Given the description of an element on the screen output the (x, y) to click on. 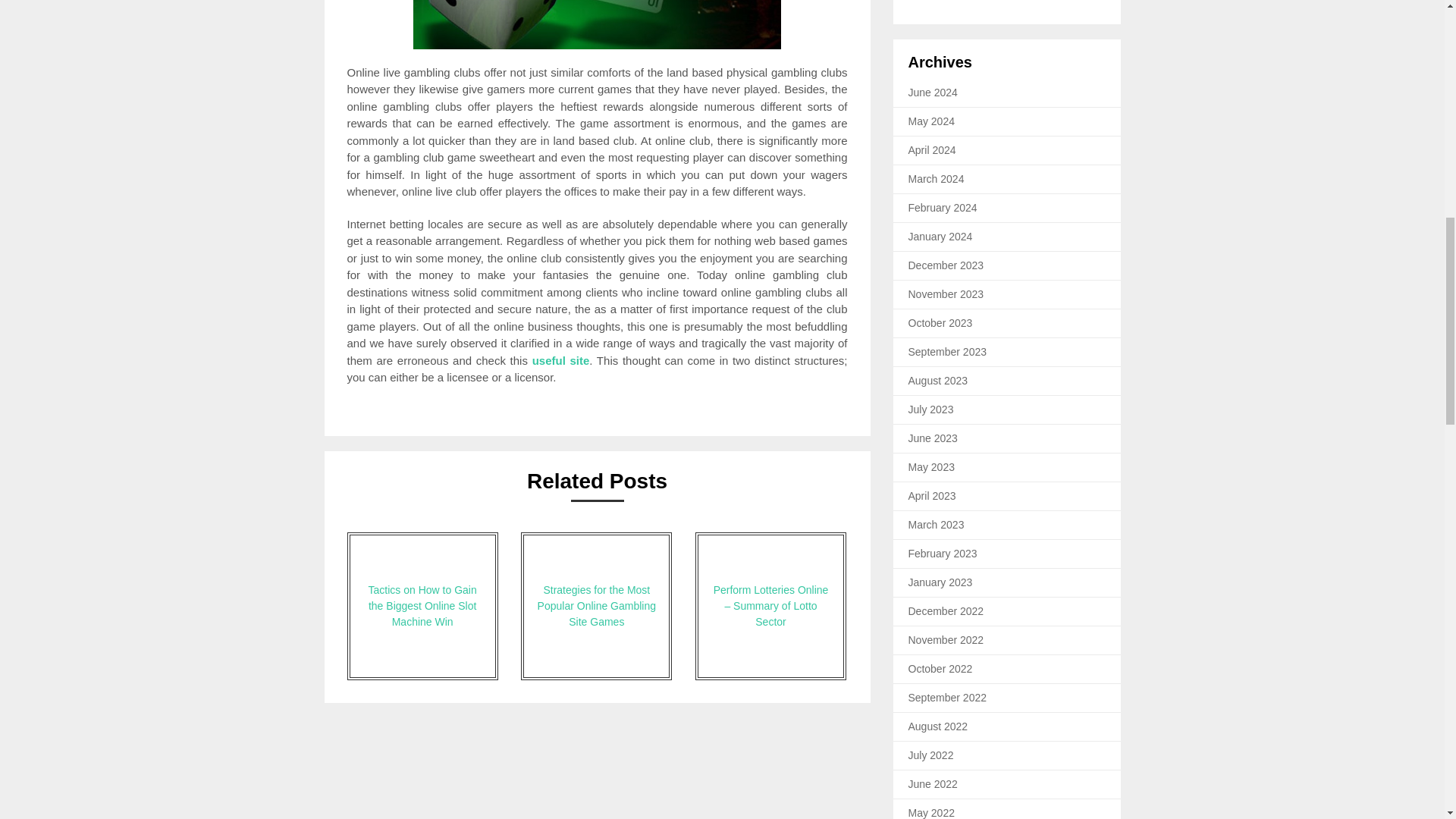
Tactics on How to Gain the Biggest Online Slot Machine Win (422, 606)
December 2022 (946, 611)
July 2023 (930, 409)
Tactics on How to Gain the Biggest Online Slot Machine Win (422, 606)
June 2023 (933, 438)
February 2023 (942, 553)
March 2023 (935, 524)
November 2023 (946, 294)
April 2024 (932, 150)
May 2023 (931, 467)
